Given the description of an element on the screen output the (x, y) to click on. 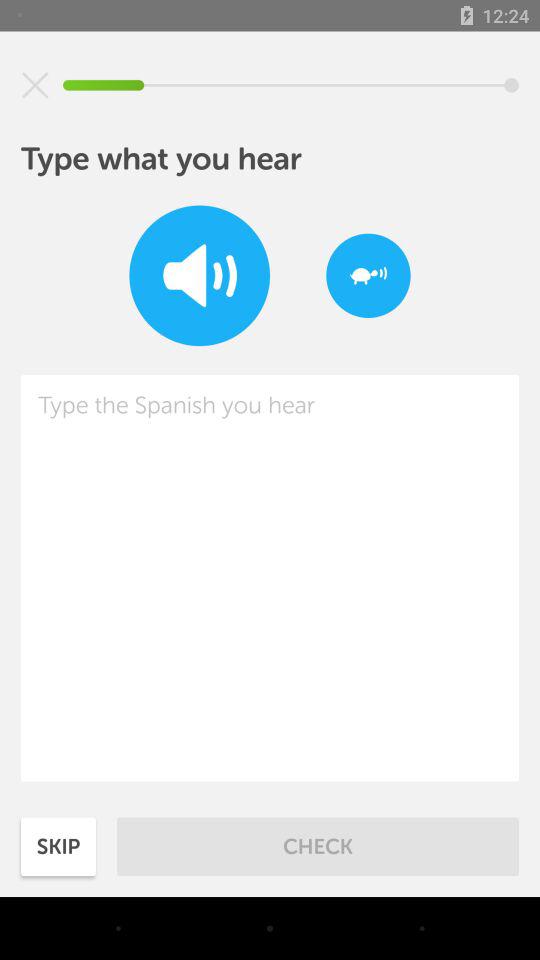
launch check (318, 846)
